Given the description of an element on the screen output the (x, y) to click on. 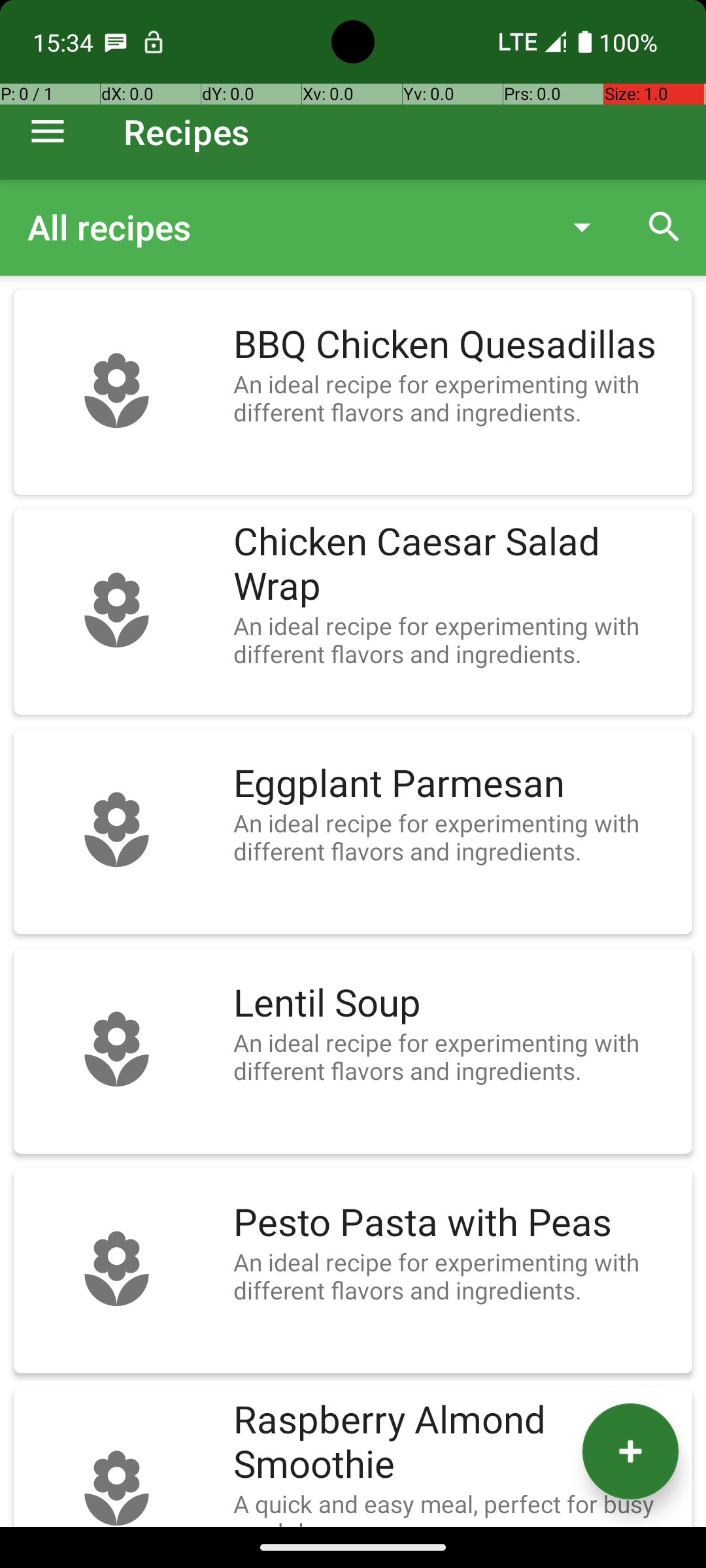
Pesto Pasta with Peas Element type: android.widget.TextView (455, 1222)
Raspberry Almond Smoothie Element type: android.widget.TextView (455, 1442)
